Given the description of an element on the screen output the (x, y) to click on. 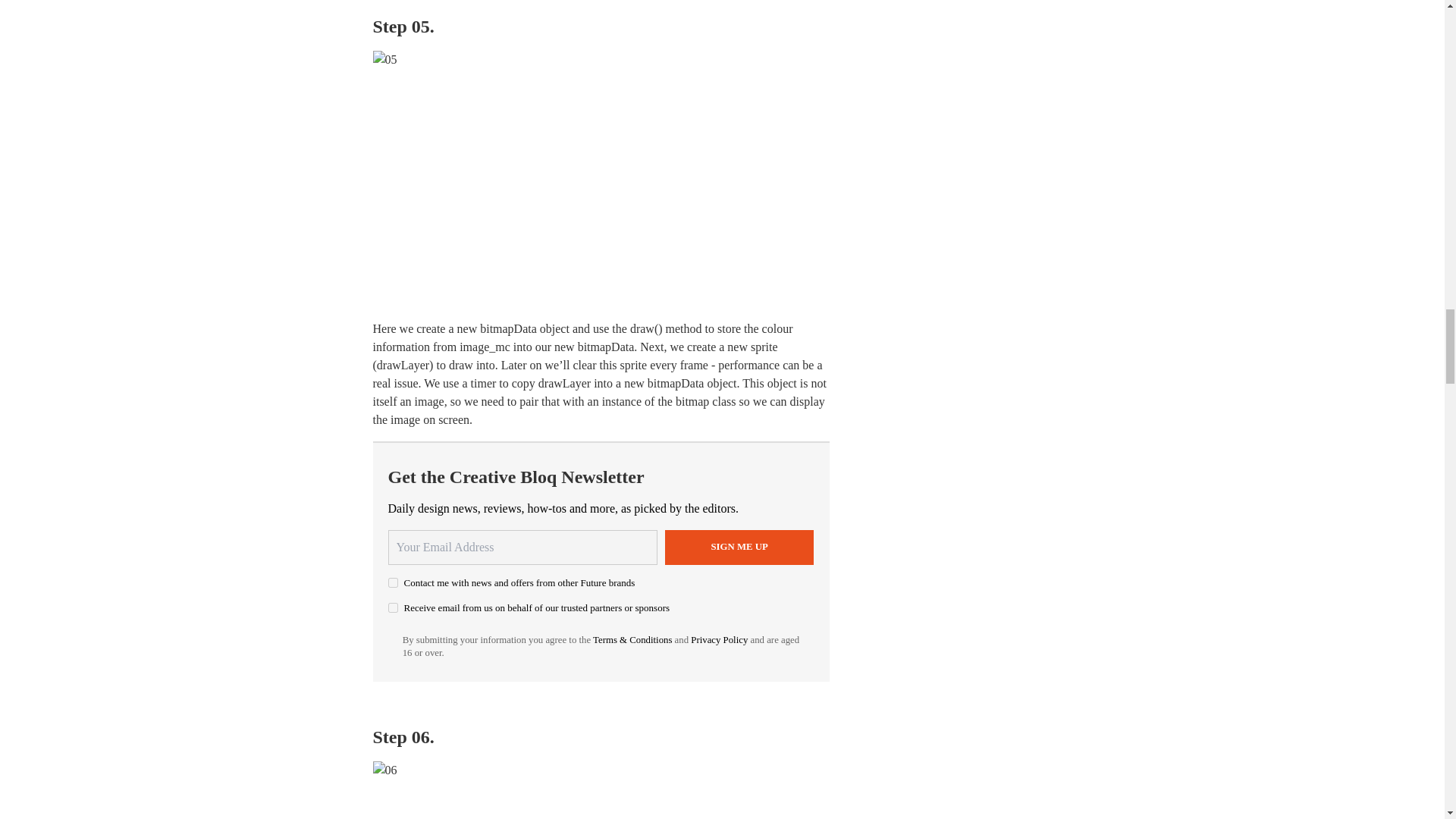
on (392, 583)
on (392, 607)
Sign me up (739, 547)
